Given the description of an element on the screen output the (x, y) to click on. 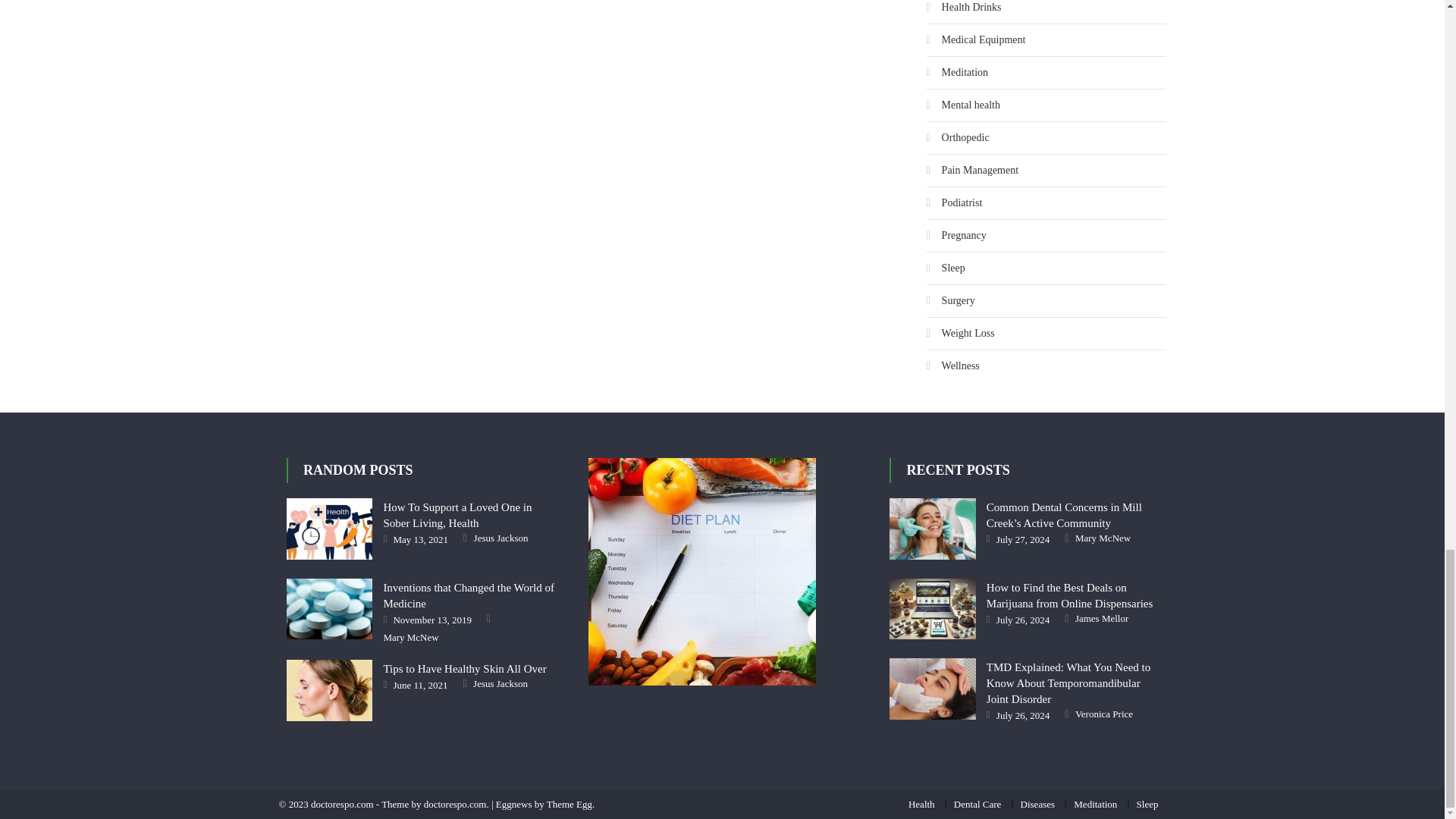
Tips to Have Healthy Skin All Over (329, 690)
How To Support a Loved One in Sober Living, Health (329, 528)
Inventions that Changed the World of Medicine (329, 608)
